Given the description of an element on the screen output the (x, y) to click on. 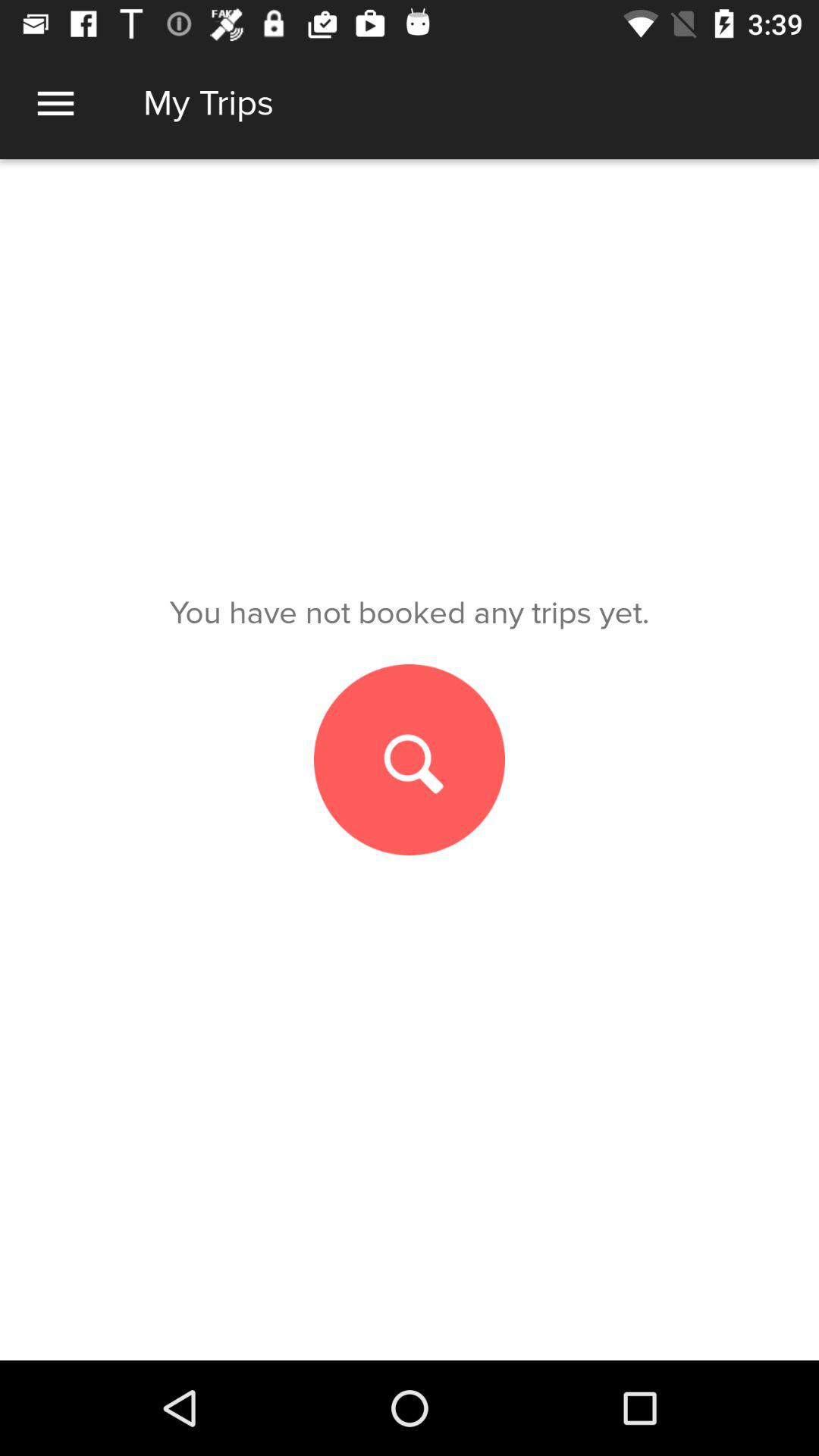
view all (55, 103)
